Given the description of an element on the screen output the (x, y) to click on. 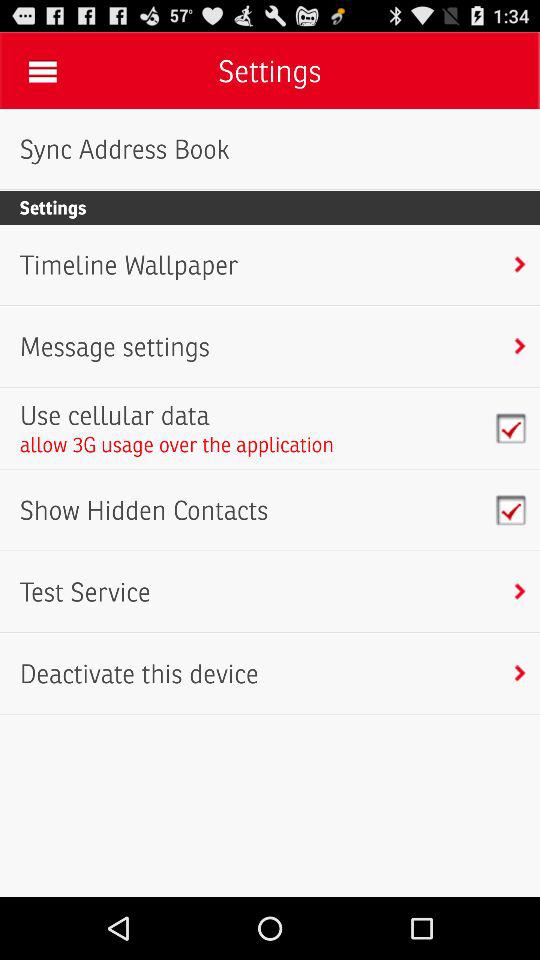
turn on use cellular data (176, 415)
